Given the description of an element on the screen output the (x, y) to click on. 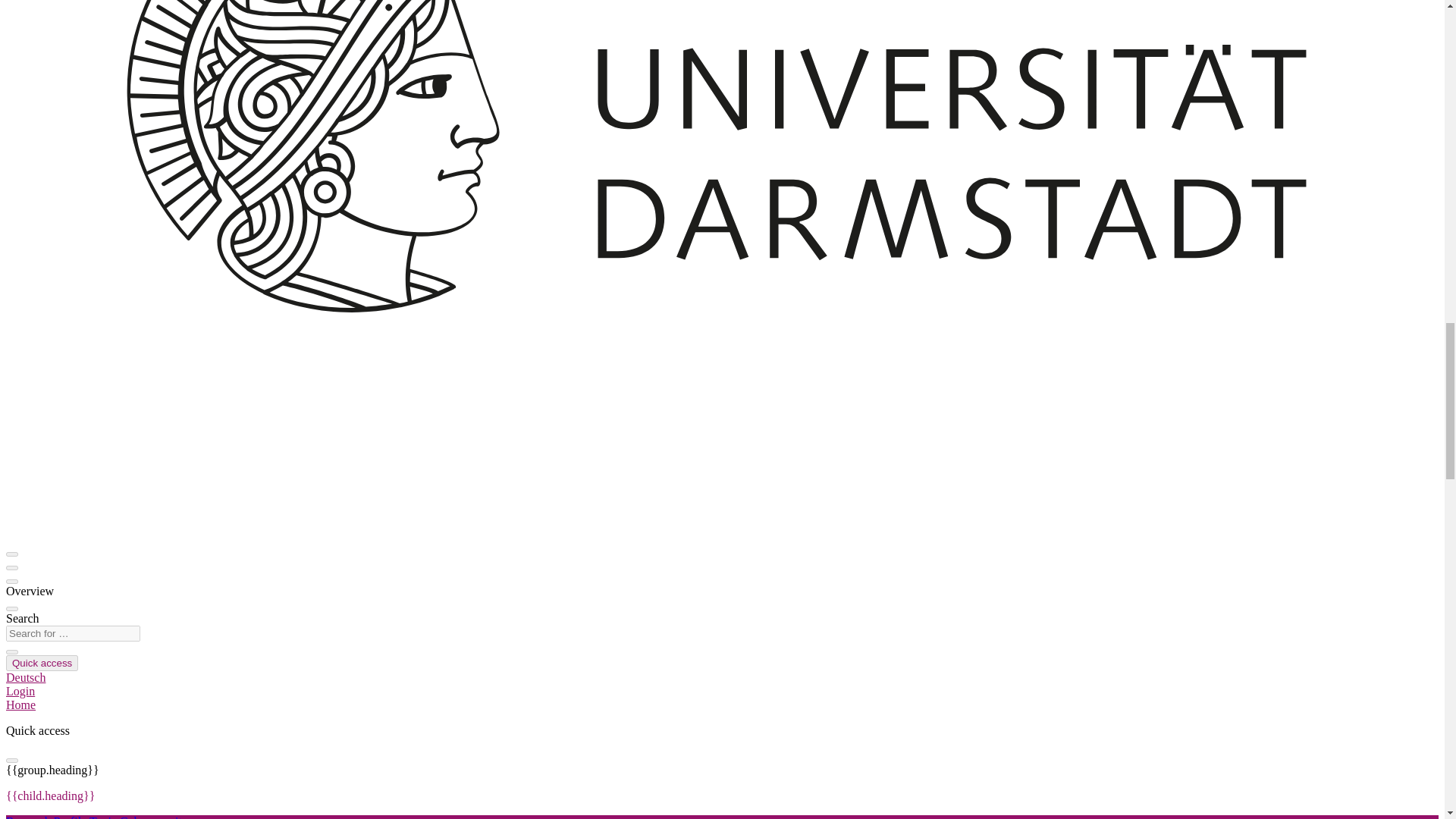
Home (19, 704)
Home (19, 704)
Deutsch (25, 676)
Login (19, 690)
Quick access (41, 662)
Overview (29, 590)
